Given the description of an element on the screen output the (x, y) to click on. 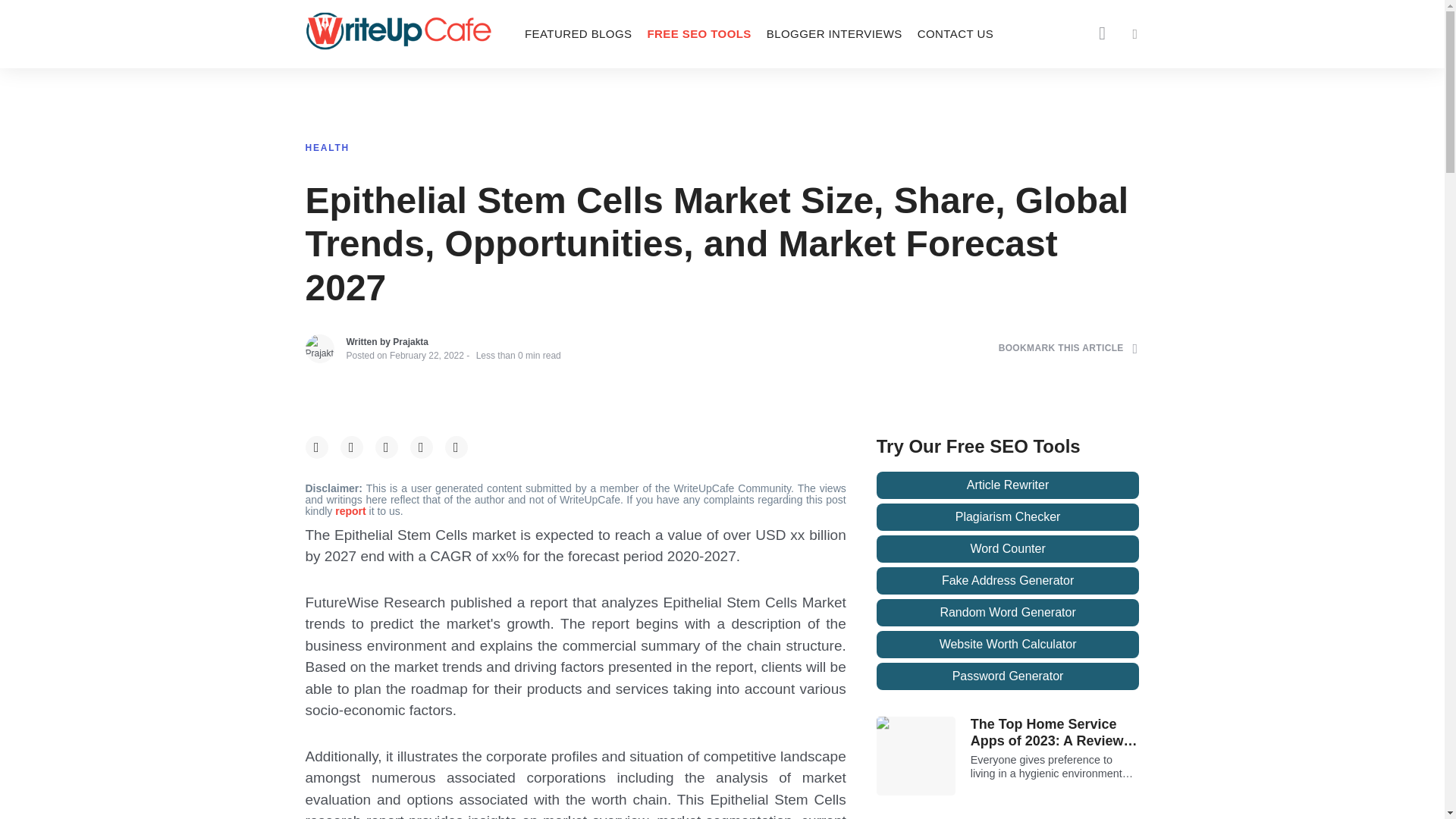
Website Worth Calculator (1008, 644)
FREE SEO TOOLS (698, 33)
report (351, 510)
FREE SEO TOOLS (698, 33)
CONTACT US (955, 33)
BOOKMARK THIS ARTICLE (1068, 348)
Word Counter (1008, 548)
Password Generator (1008, 676)
BLOGGER INTERVIEWS (834, 33)
Article Rewriter (1008, 484)
